Given the description of an element on the screen output the (x, y) to click on. 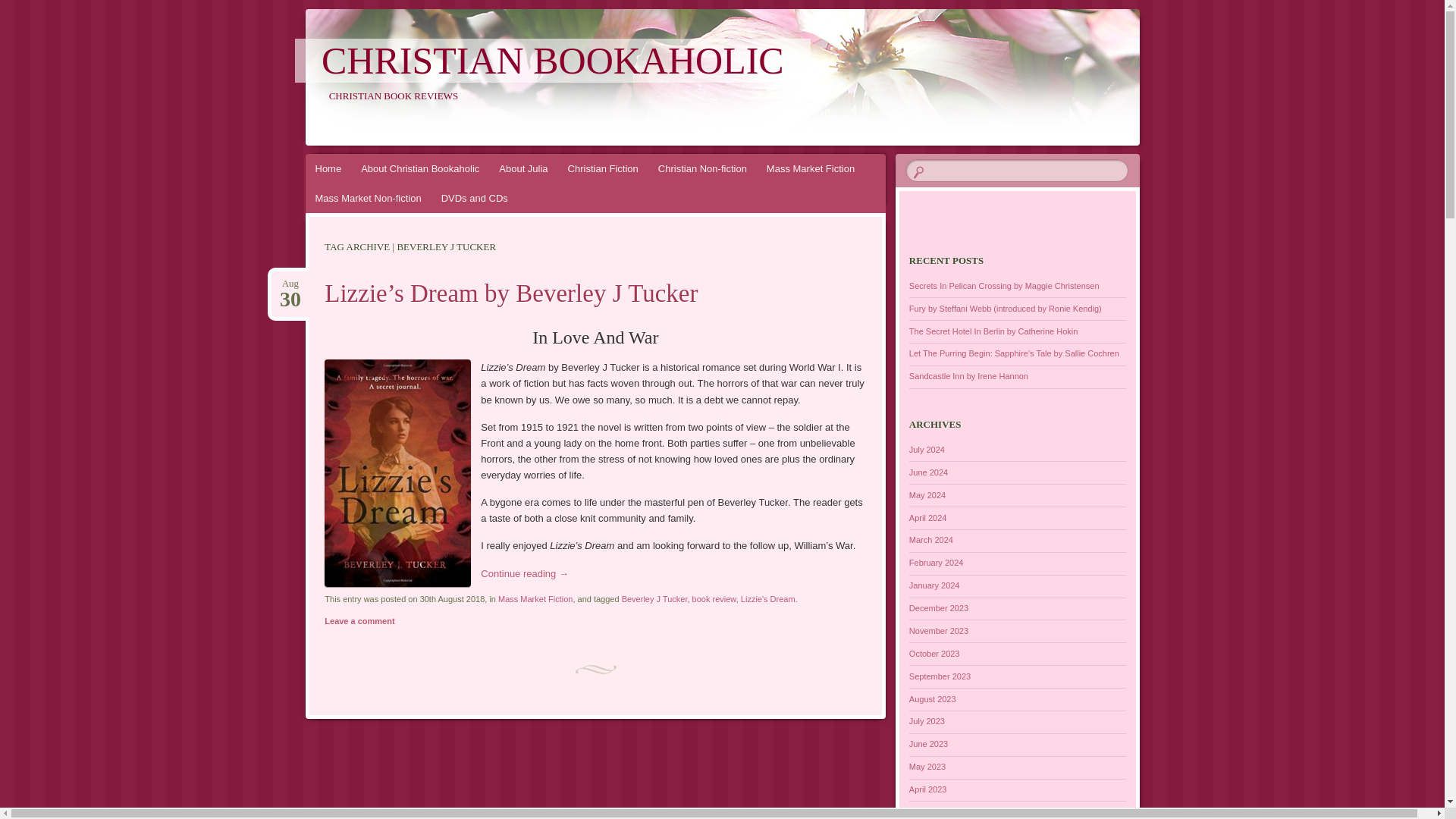
Mass Market Fiction (810, 168)
The Secret Hotel In Berlin by Catherine Hokin (993, 330)
book review (714, 598)
January 2024 (933, 584)
October 2023 (933, 653)
Christian Fiction (602, 168)
August 2023 (932, 698)
CHRISTIAN BOOKAHOLIC (552, 60)
July 2023 (926, 720)
Lizzie's Dream (767, 598)
Leave a comment (359, 619)
Christian Bookaholic (552, 60)
About Julia (289, 283)
Mass Market Non-fiction (523, 168)
